Given the description of an element on the screen output the (x, y) to click on. 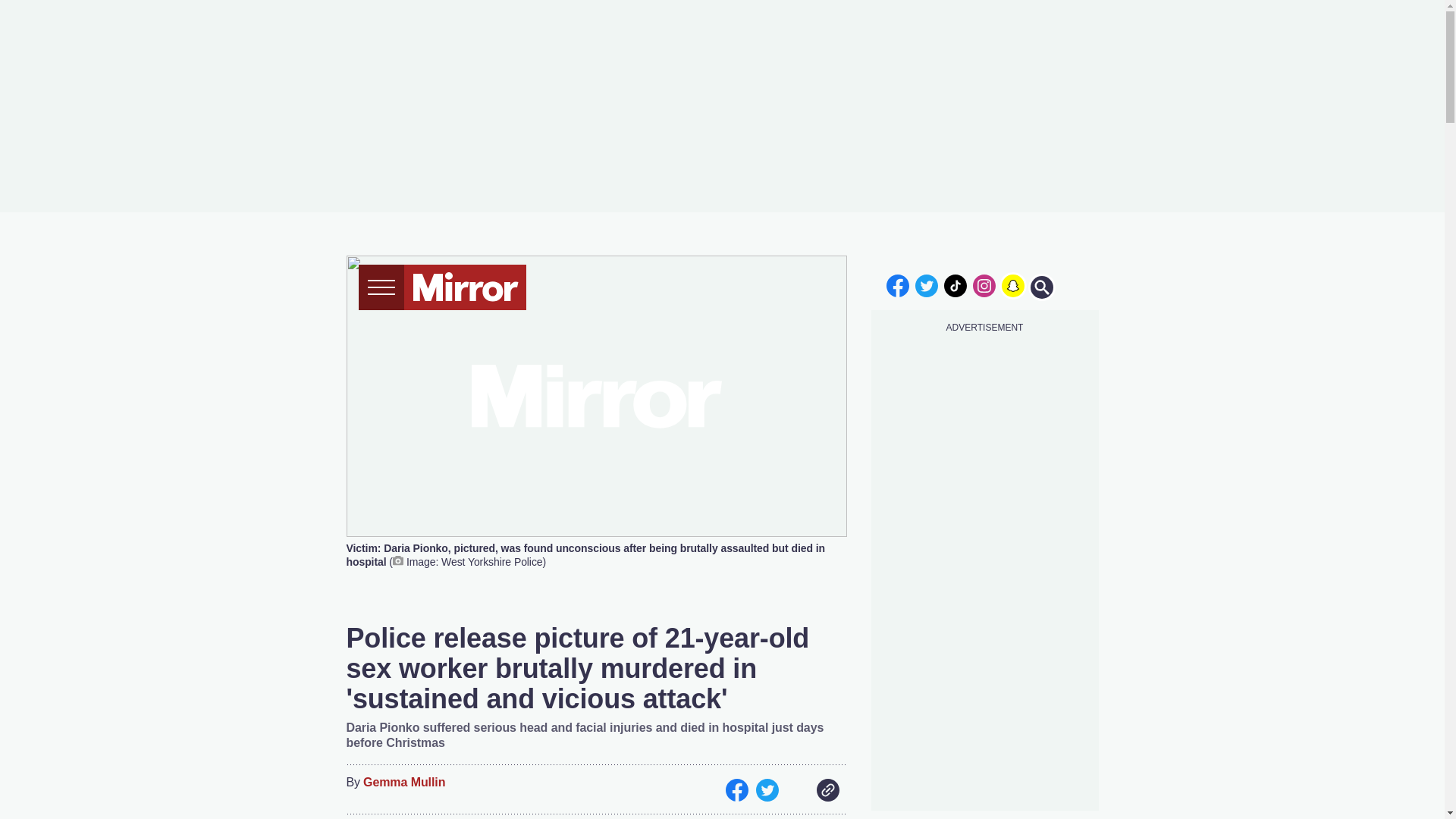
instagram (984, 285)
tiktok (955, 285)
Gemma Mullin (403, 782)
twitter (926, 285)
snapchat (1012, 285)
Facebook (736, 789)
Whatsapp (797, 789)
Twitter (766, 789)
facebook (897, 285)
